Given the description of an element on the screen output the (x, y) to click on. 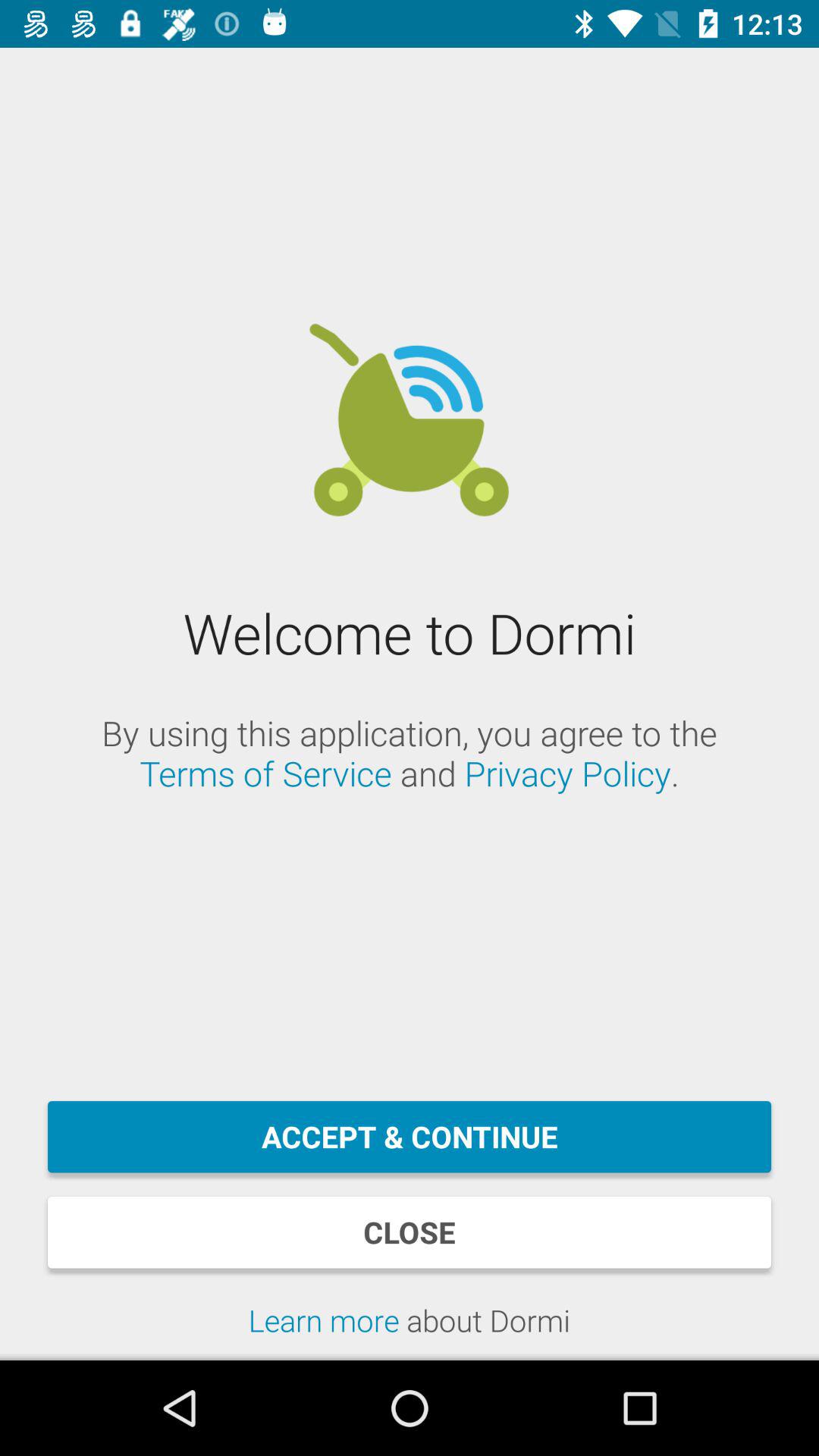
flip to by using this icon (409, 752)
